Given the description of an element on the screen output the (x, y) to click on. 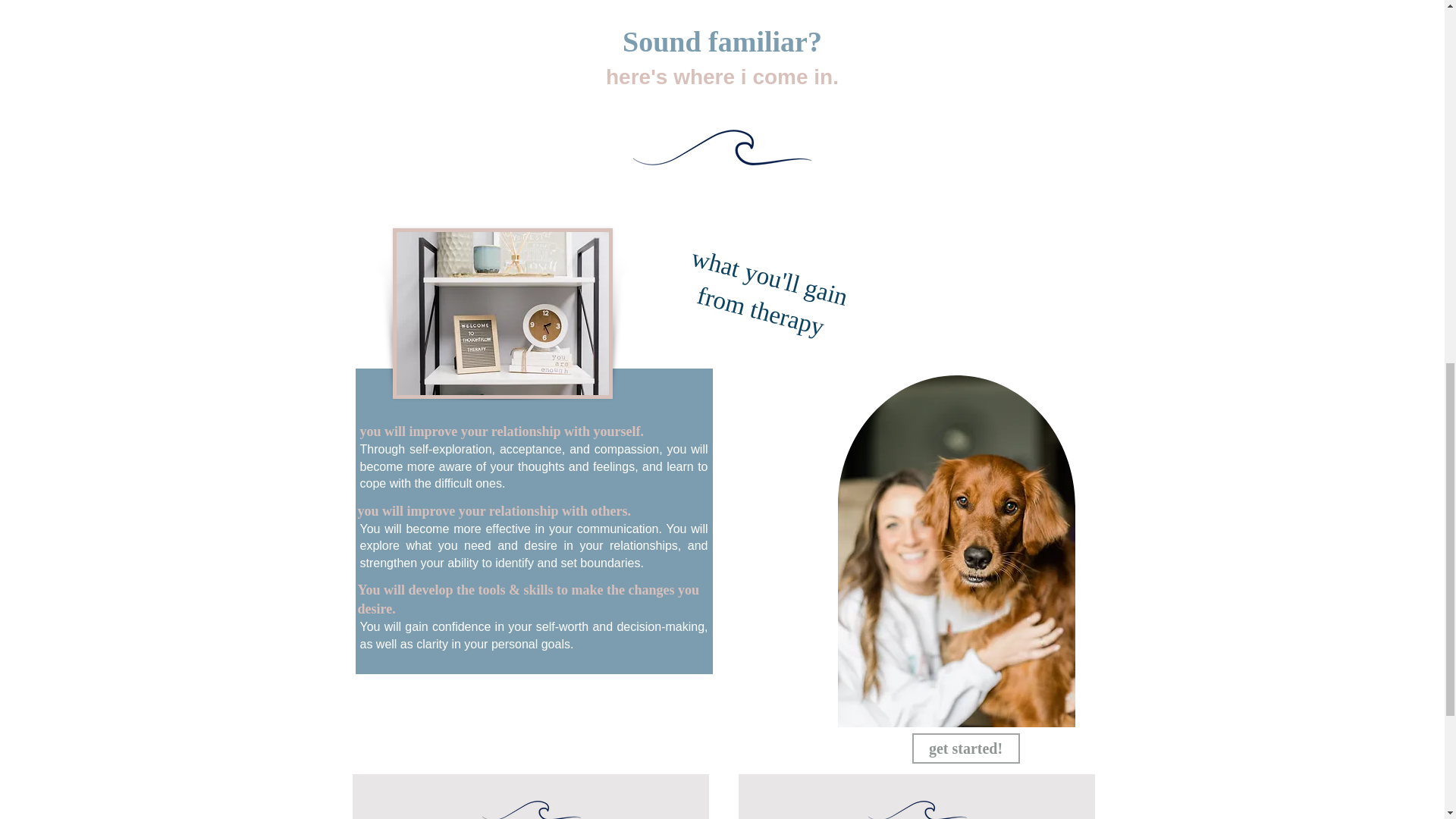
get started! (965, 748)
